Given the description of an element on the screen output the (x, y) to click on. 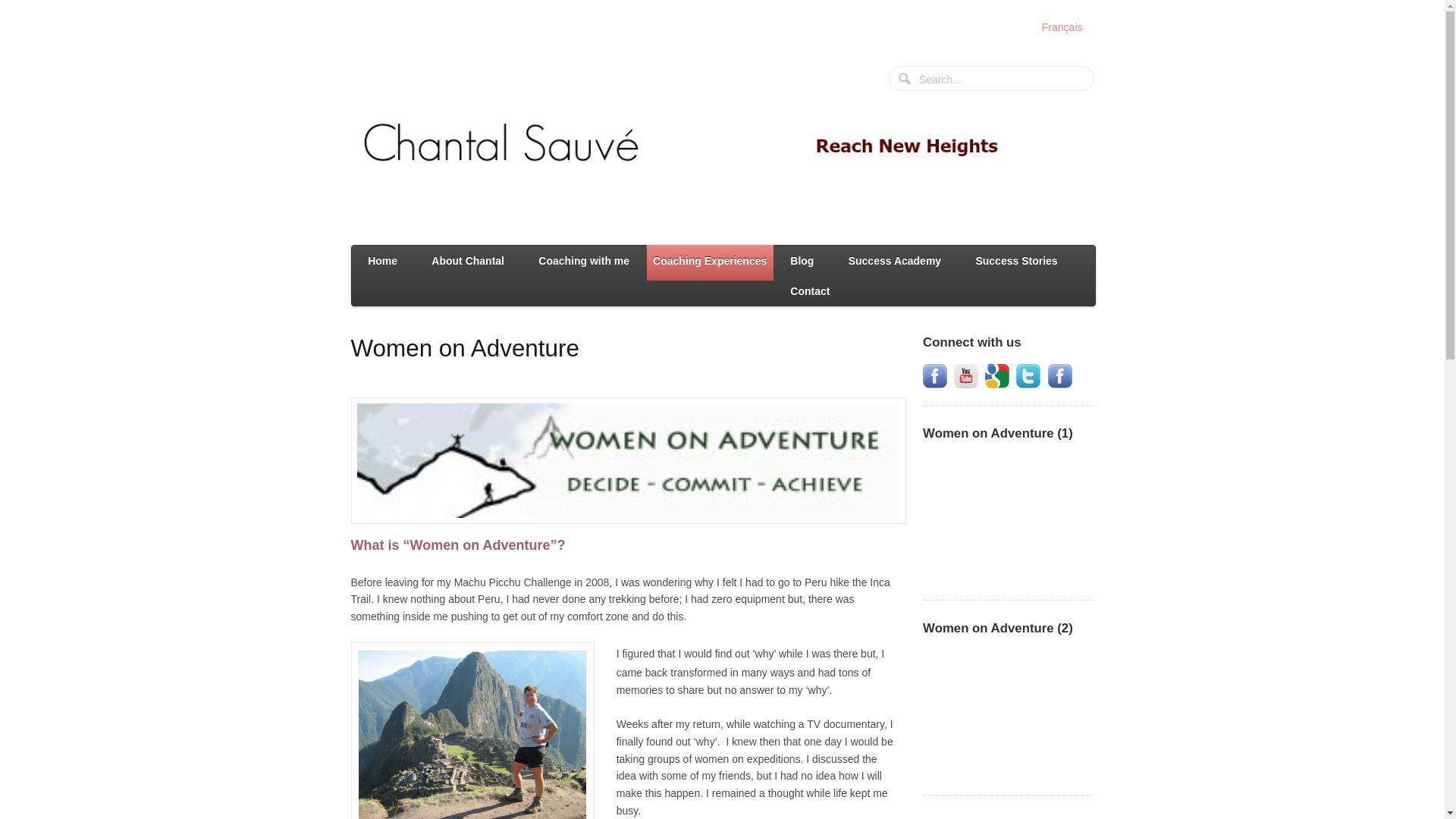
Search (906, 79)
Blog (802, 260)
Search (906, 79)
Contact (810, 291)
Coaching with me (583, 260)
Home (381, 260)
About Chantal (467, 260)
Success Academy (894, 260)
Coaching Experiences (709, 262)
Success Stories (1016, 260)
